Given the description of an element on the screen output the (x, y) to click on. 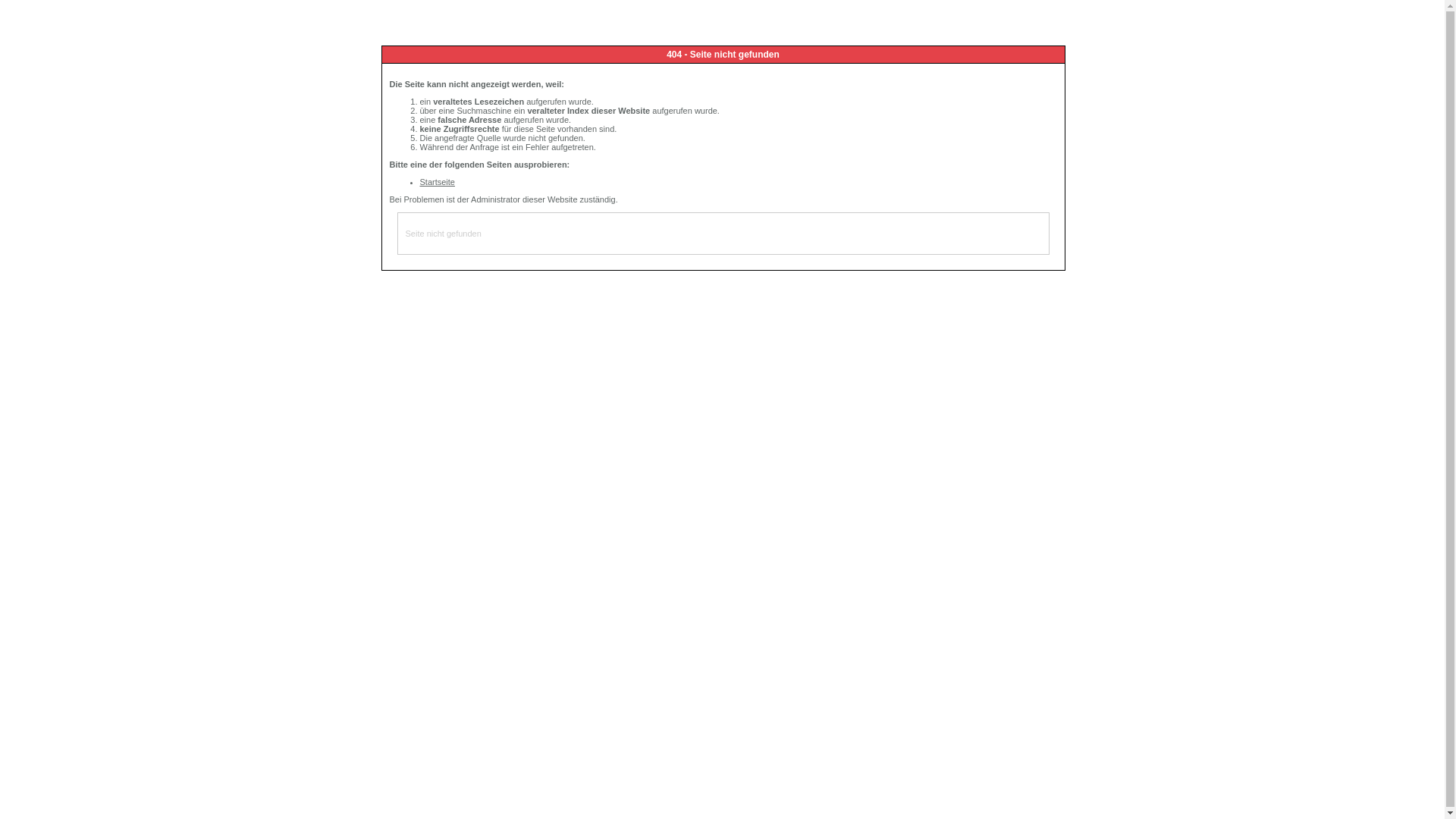
Startseite Element type: text (437, 181)
